Given the description of an element on the screen output the (x, y) to click on. 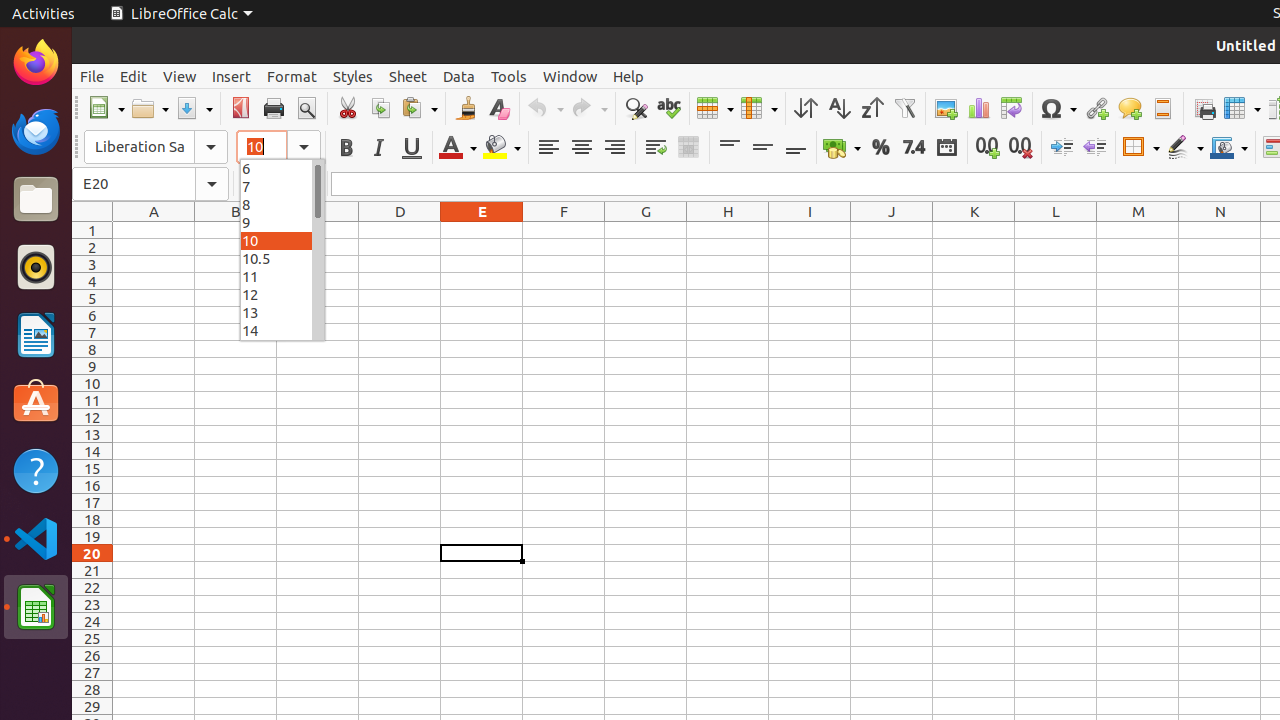
Cut Element type: push-button (347, 108)
7 Element type: list-item (282, 186)
Decrease Element type: push-button (1094, 147)
Align Bottom Element type: push-button (795, 147)
Merge and Center Cells Element type: push-button (688, 147)
